Given the description of an element on the screen output the (x, y) to click on. 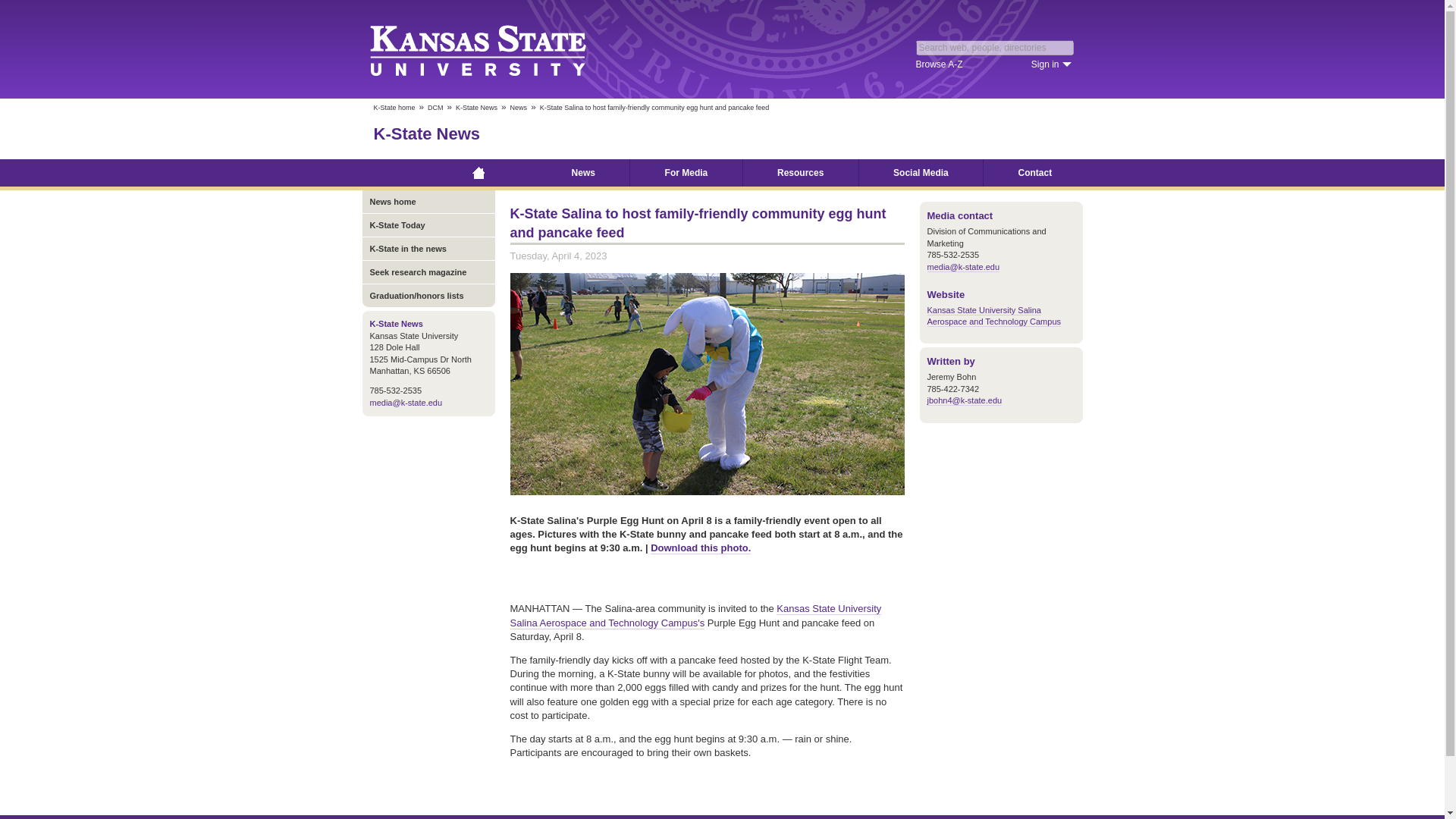
K-State home (393, 107)
Search web, people, directories (994, 47)
Search web, people, directories (994, 47)
For Media (685, 172)
K-State News (426, 133)
Resources (800, 172)
Kansas State University (496, 49)
DCM (436, 107)
News (582, 172)
Purple Egg Hunt (706, 383)
K-State News (476, 107)
Home (479, 172)
News (519, 107)
Sign in (1050, 64)
Browse A-Z (938, 63)
